Given the description of an element on the screen output the (x, y) to click on. 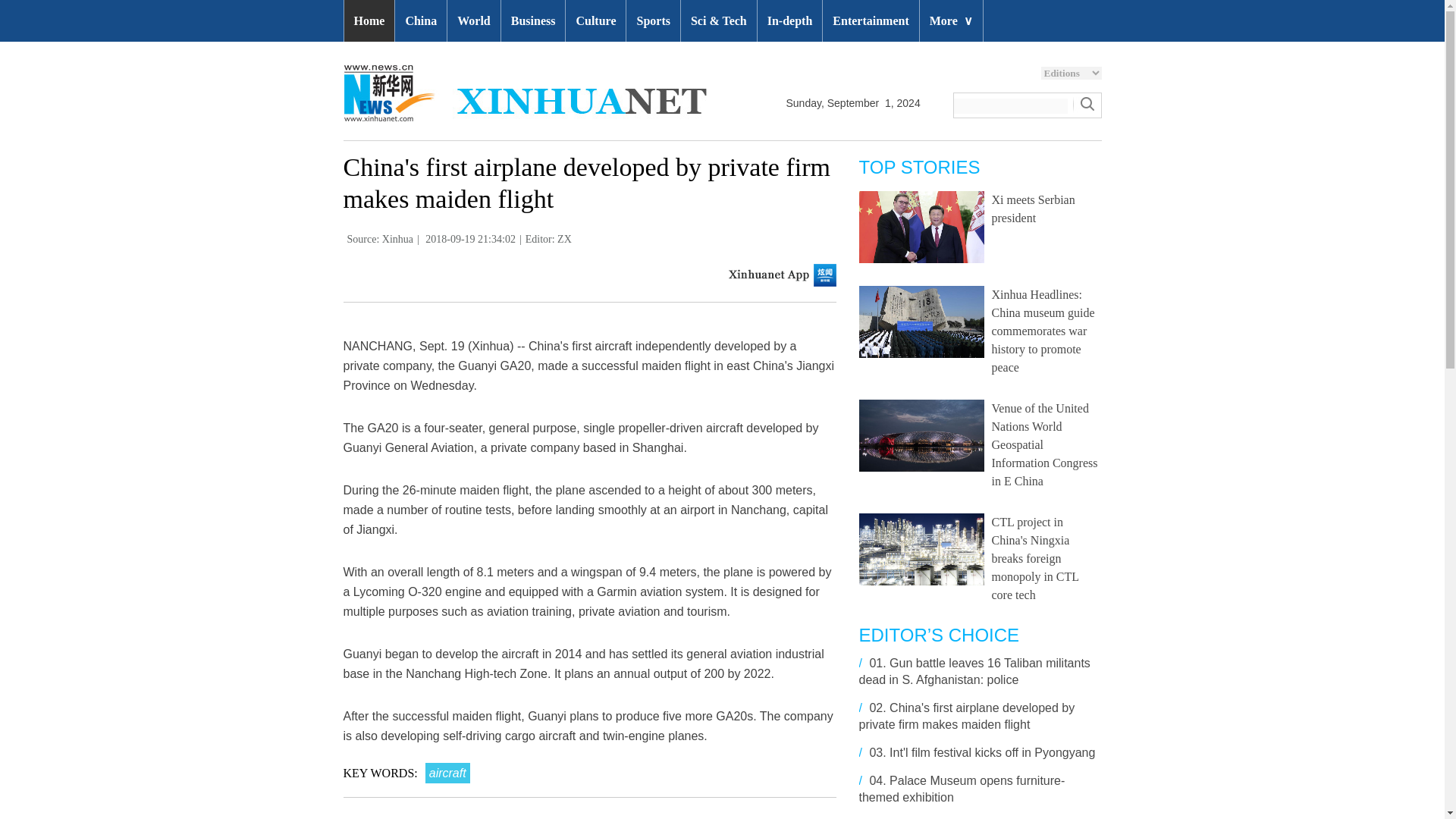
Culture (596, 20)
World (473, 20)
Home (368, 20)
China (420, 20)
Business (533, 20)
Entertainment (870, 20)
Sports (652, 20)
In-depth (789, 20)
